Given the description of an element on the screen output the (x, y) to click on. 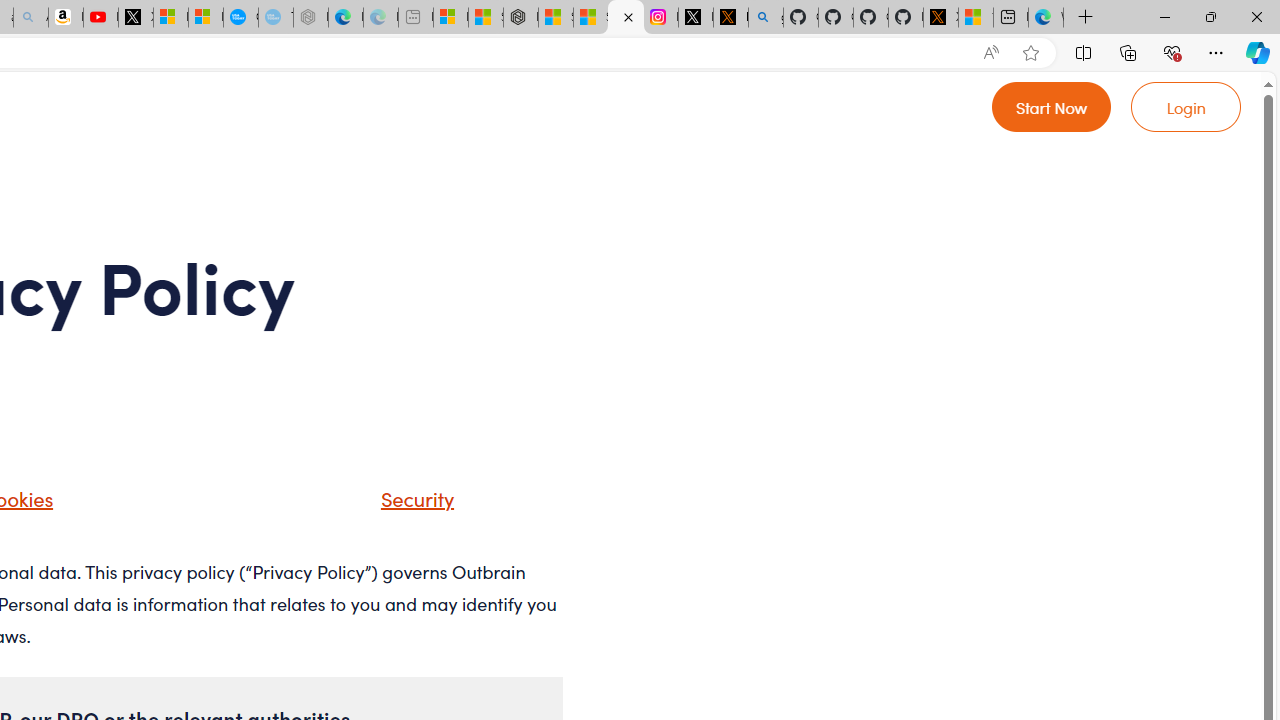
help.x.com | 524: A timeout occurred (730, 17)
Go to login (1186, 106)
X Privacy Policy (940, 17)
Shanghai, China Weather trends | Microsoft Weather (590, 17)
Log in to X / X (695, 17)
Security (392, 505)
Security (411, 497)
The most popular Google 'how to' searches - Sleeping (275, 17)
